Given the description of an element on the screen output the (x, y) to click on. 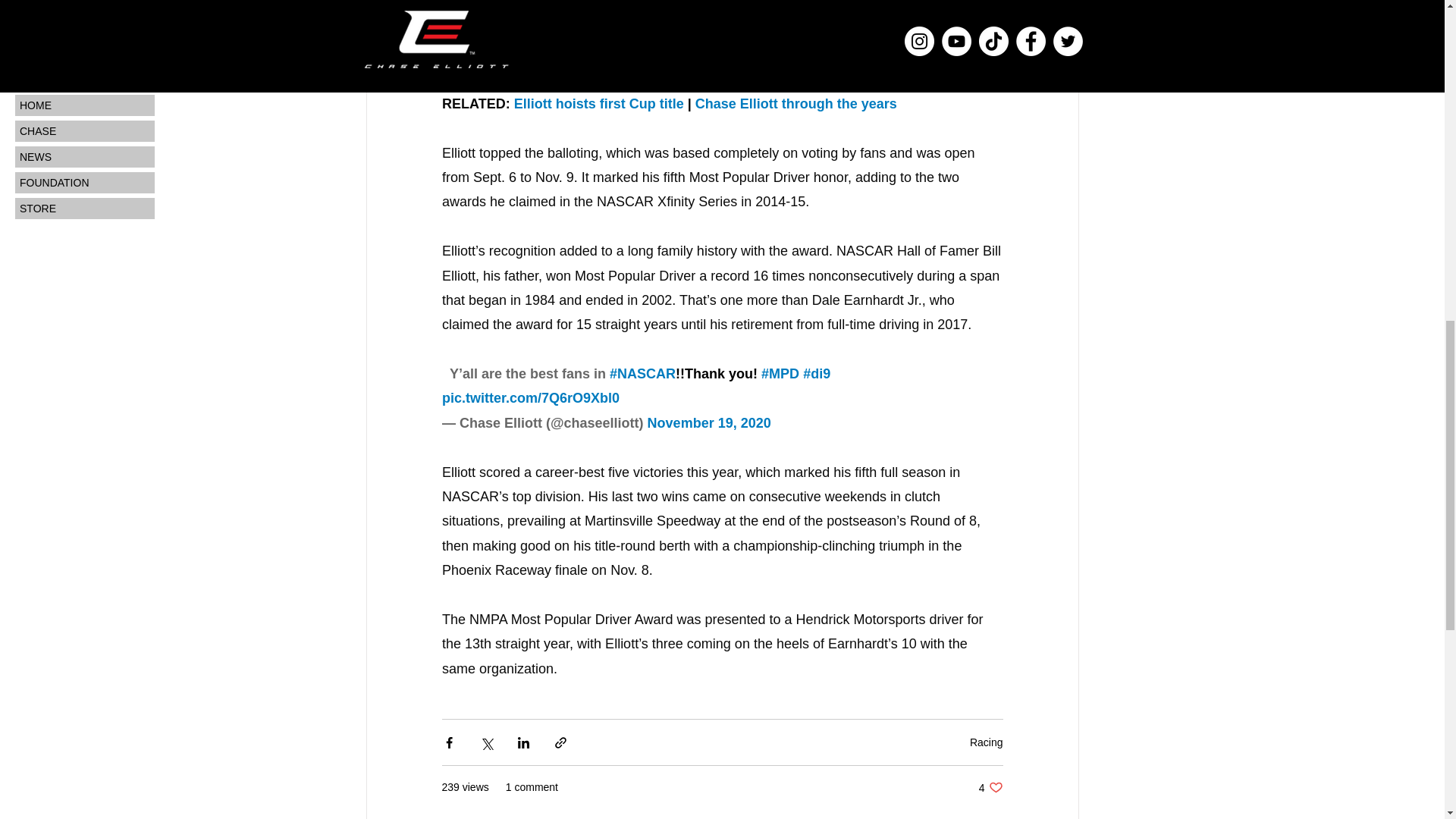
Racing (990, 787)
Chase Elliott through the years (986, 742)
November 19, 2020 (795, 103)
Elliott hoists first Cup title (708, 422)
